Given the description of an element on the screen output the (x, y) to click on. 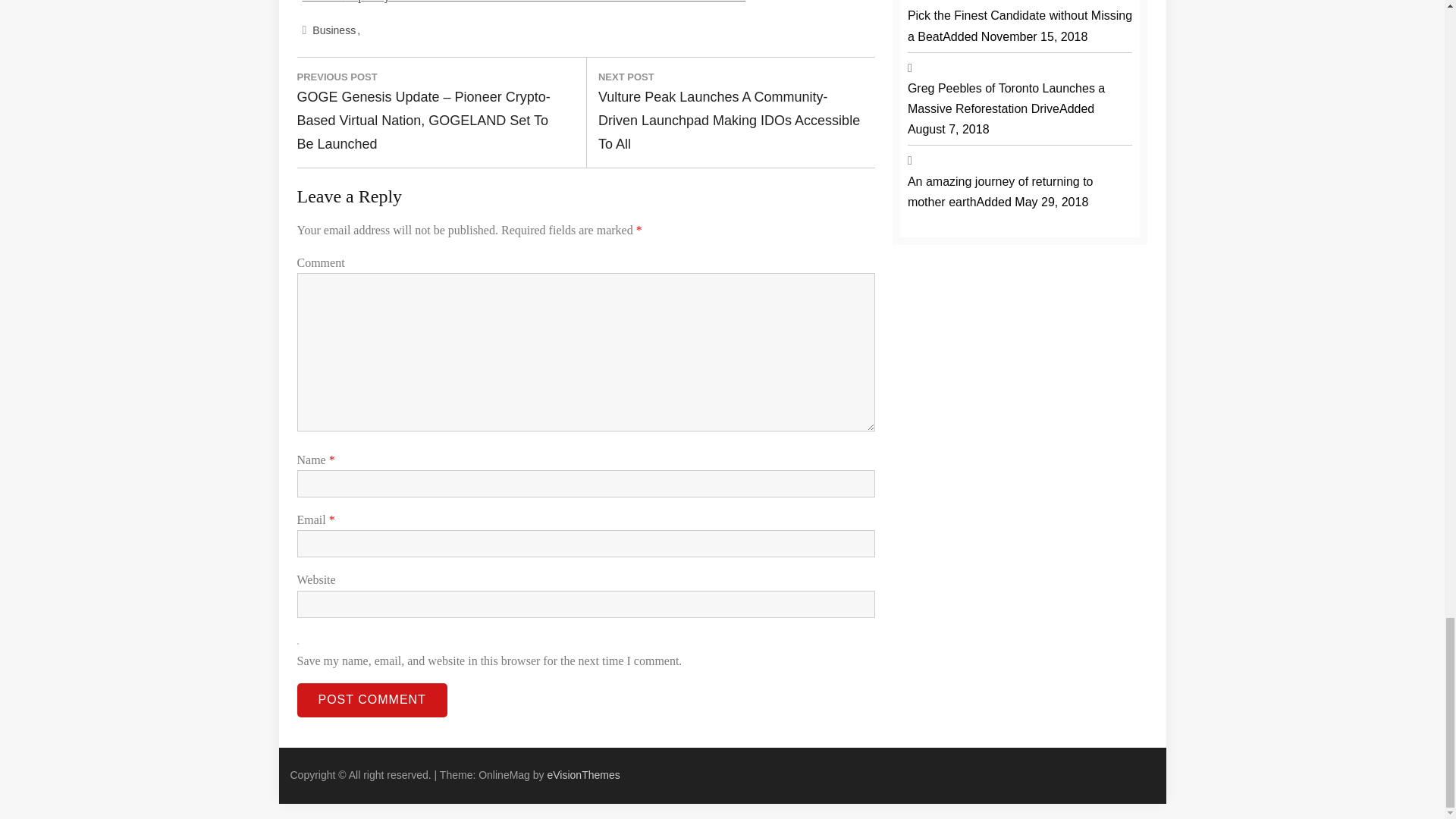
Post Comment (371, 700)
Business (335, 30)
Post Comment (371, 700)
